Given the description of an element on the screen output the (x, y) to click on. 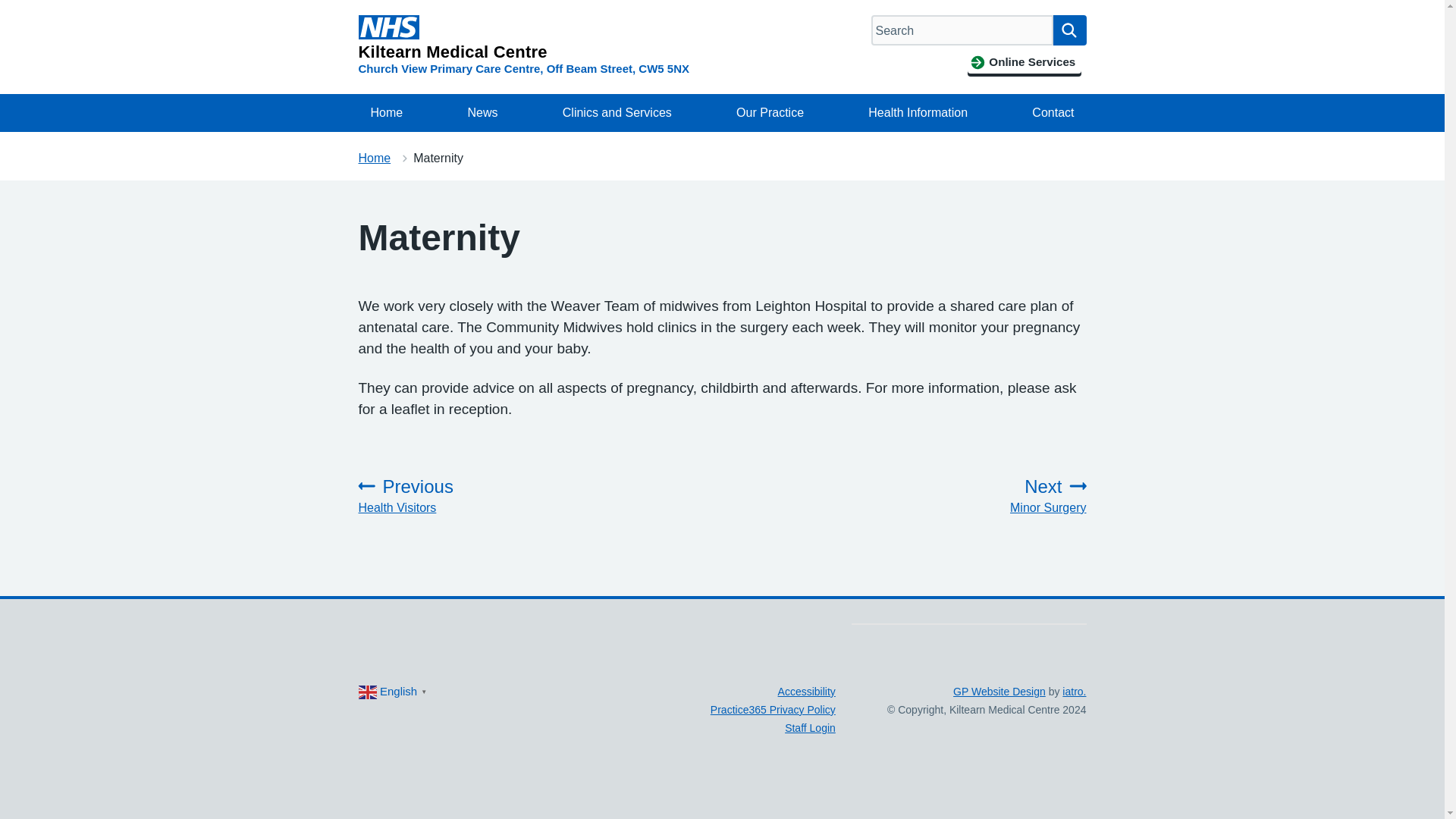
News (481, 112)
Health Information (917, 112)
Online Services  (1024, 61)
Our Practice (769, 112)
Contact (1053, 112)
Clinics and Services (617, 112)
GP Website Design (999, 691)
NHS Logo (388, 27)
Practice365 Privacy Policy (772, 709)
Staff Login (809, 727)
